Given the description of an element on the screen output the (x, y) to click on. 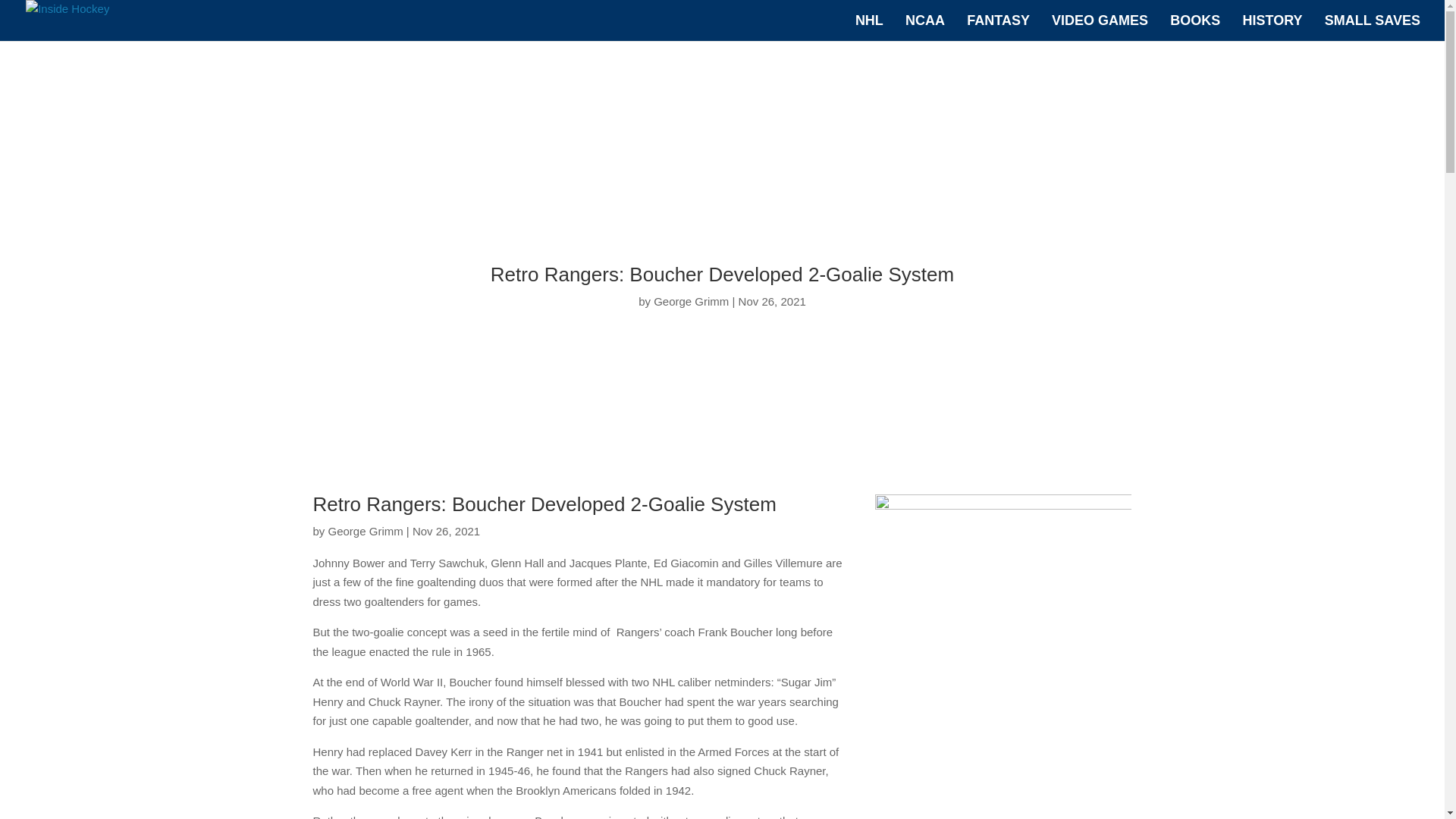
Posts by George Grimm (366, 530)
FANTASY (997, 27)
NHL (869, 27)
Posts by George Grimm (691, 300)
HISTORY (1271, 27)
BOOKS (1195, 27)
George Grimm (691, 300)
VIDEO GAMES (1099, 27)
NCAA (924, 27)
George Grimm (366, 530)
